Given the description of an element on the screen output the (x, y) to click on. 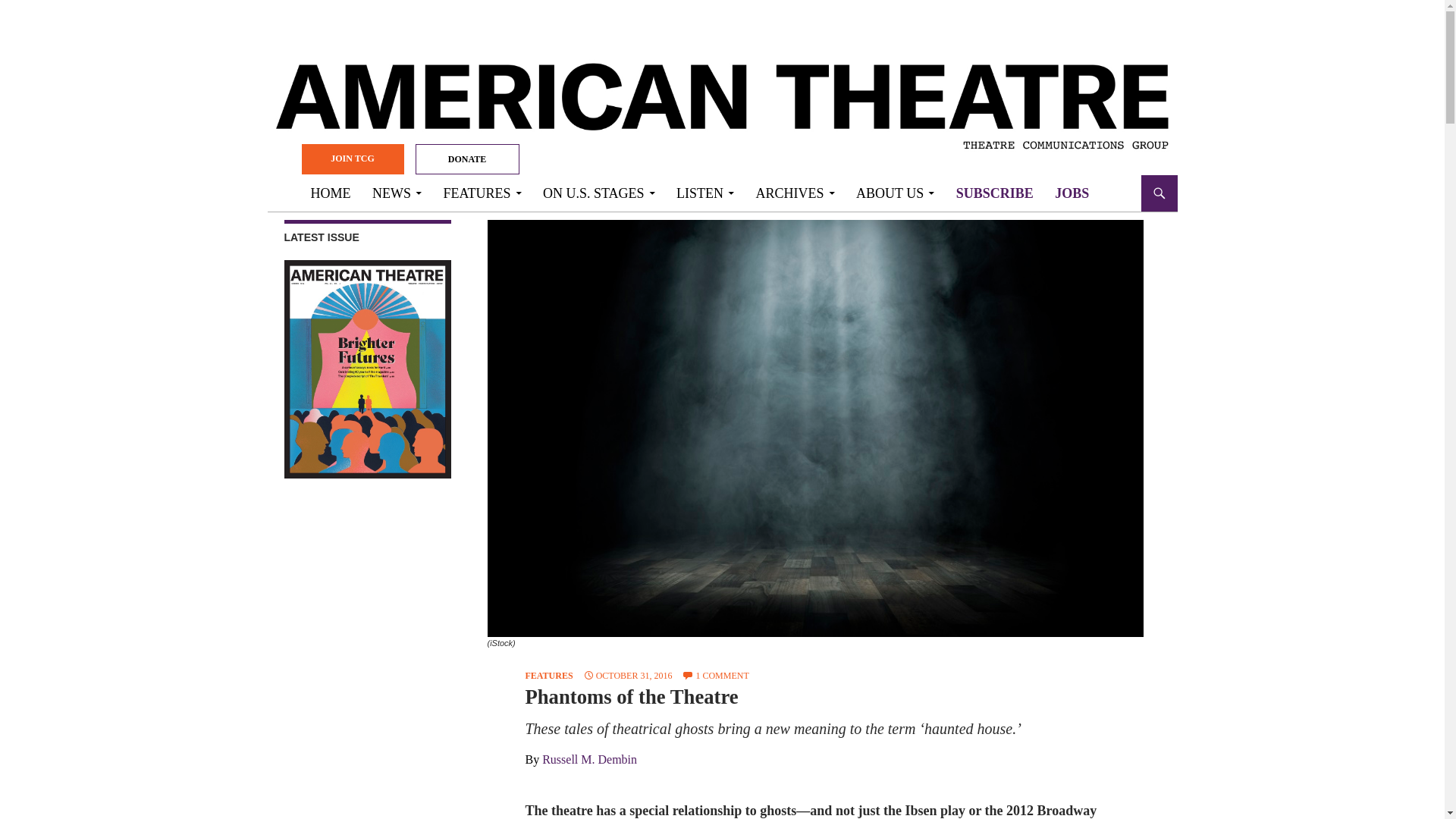
LISTEN (704, 193)
FEATURES (481, 193)
AMERICAN THEATRE (403, 192)
SUBSCRIBE (994, 193)
DONATE (466, 159)
ARCHIVES (795, 193)
NEWS (396, 193)
ABOUT US (895, 193)
JOBS (1071, 193)
ON U.S. STAGES (598, 193)
